Given the description of an element on the screen output the (x, y) to click on. 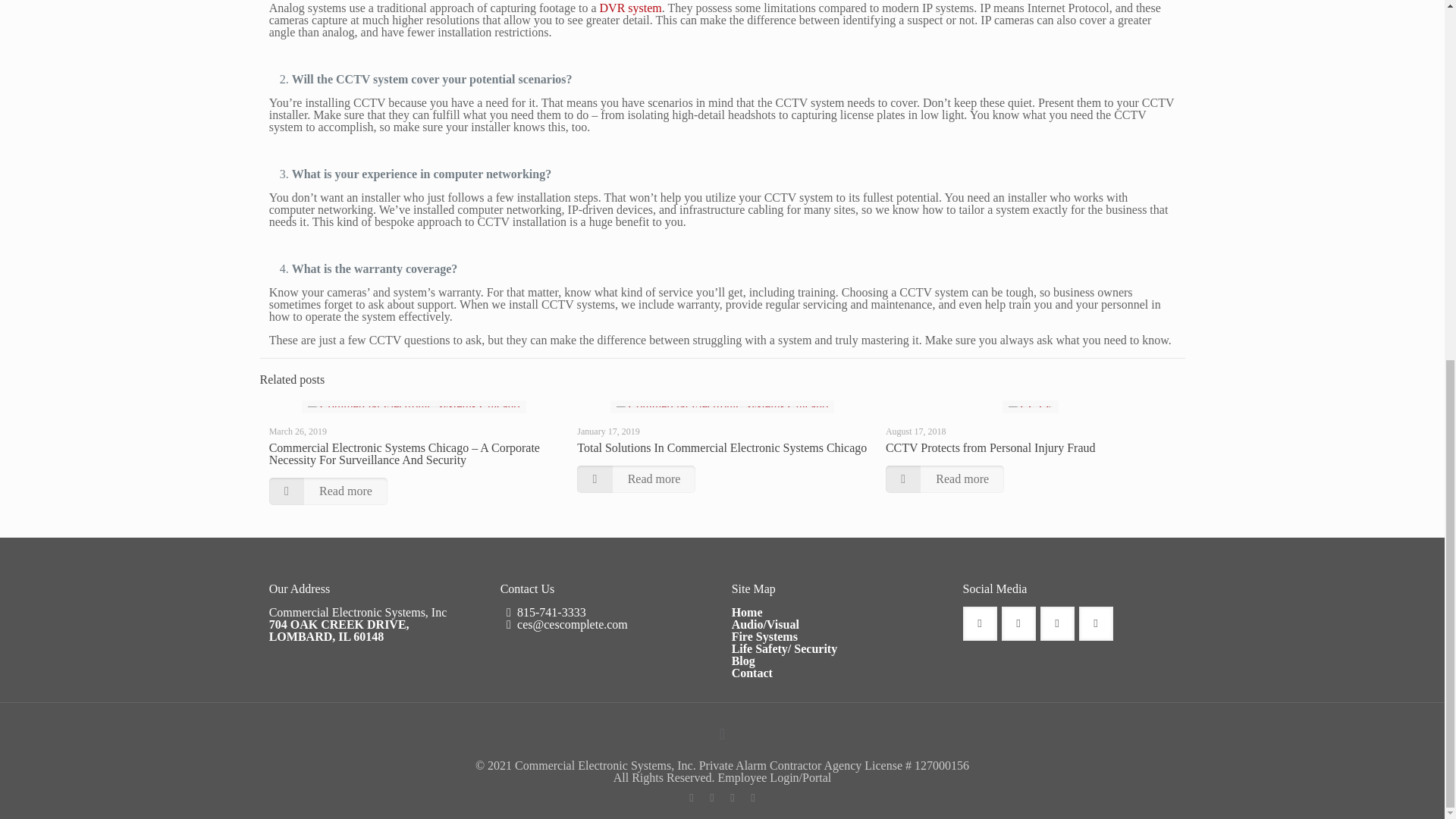
Facebook (690, 797)
YouTube (731, 797)
LinkedIn (752, 797)
Twitter (711, 797)
